Given the description of an element on the screen output the (x, y) to click on. 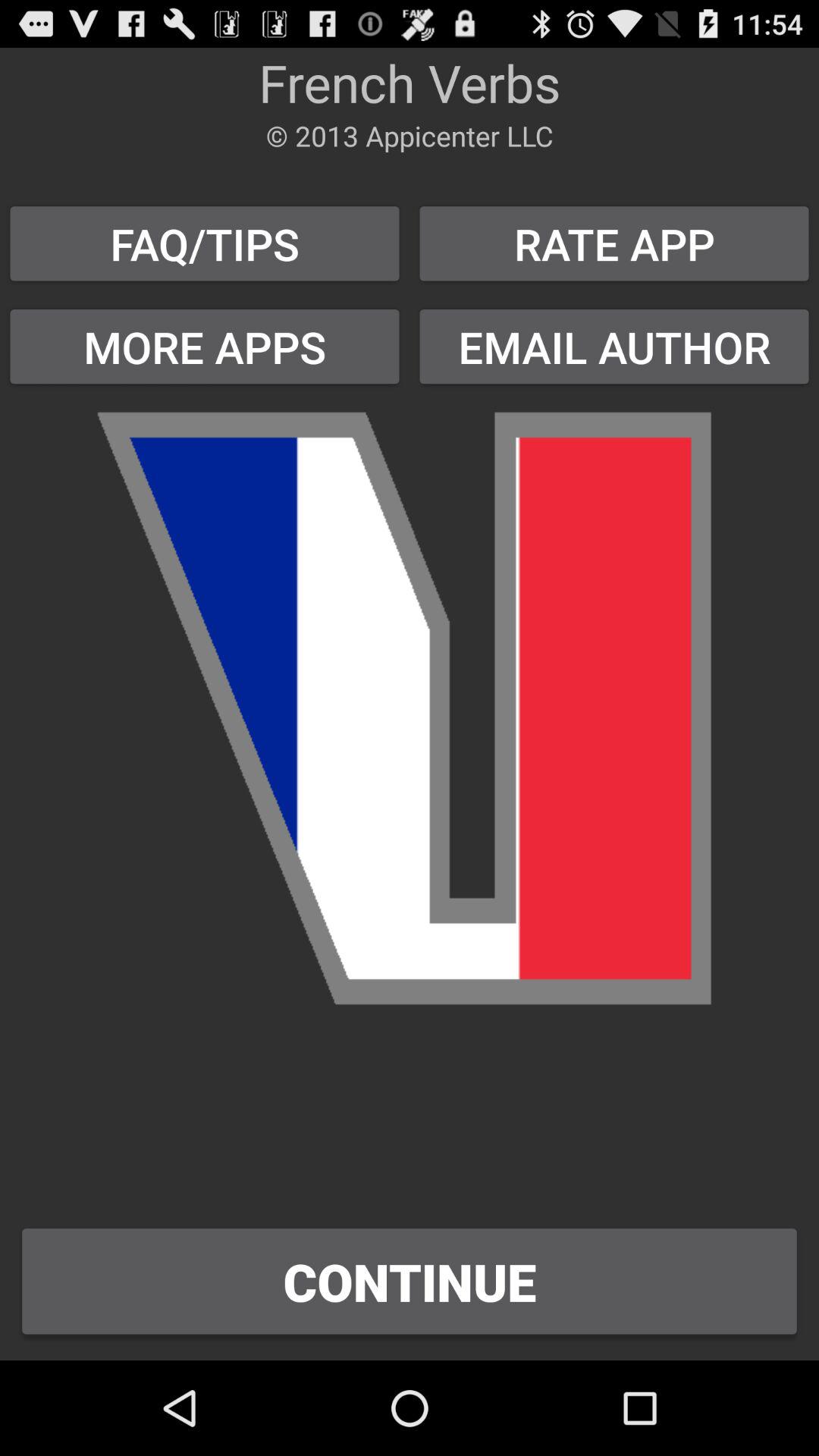
scroll to email author button (613, 346)
